Given the description of an element on the screen output the (x, y) to click on. 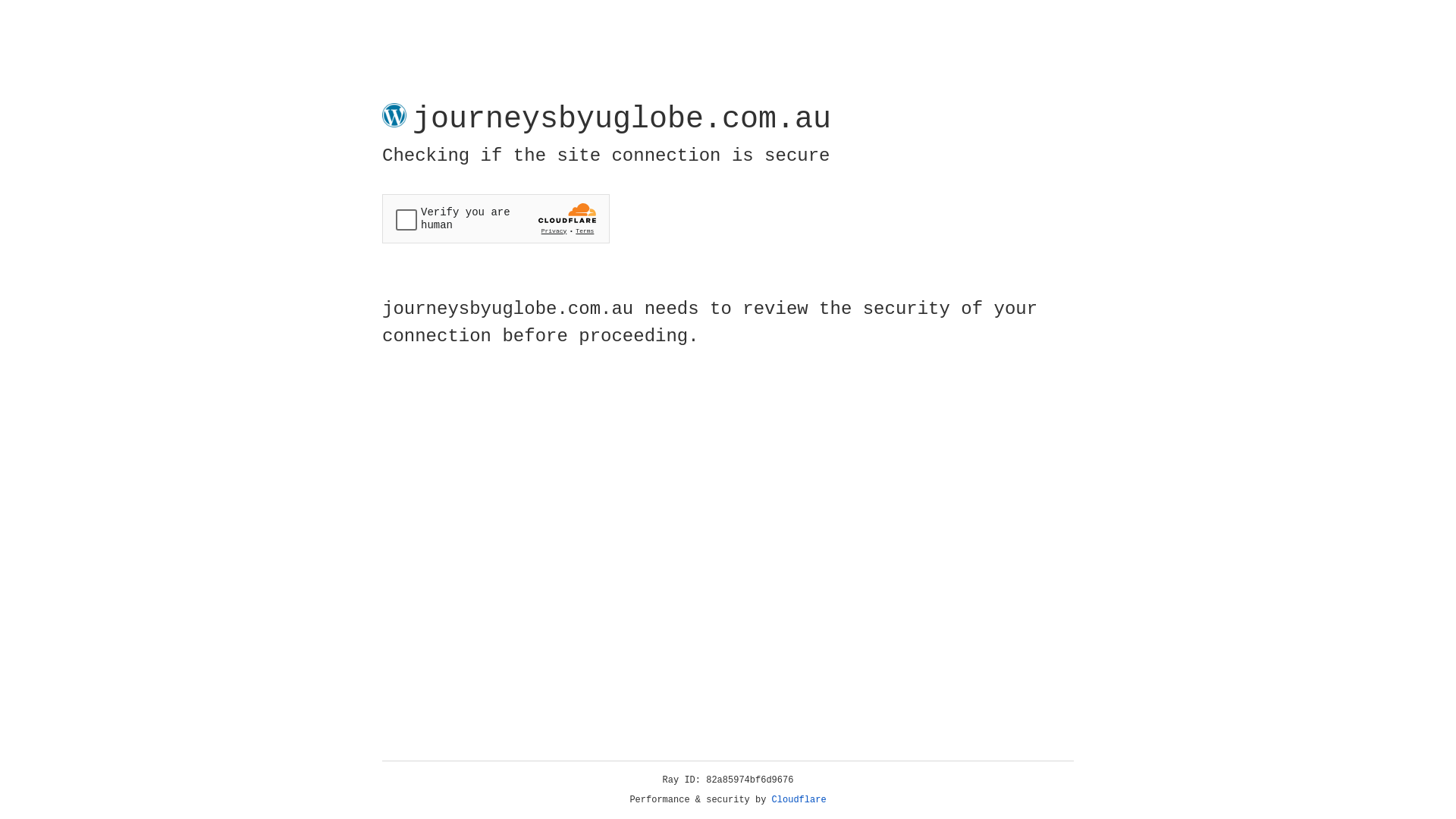
Widget containing a Cloudflare security challenge Element type: hover (495, 218)
Cloudflare Element type: text (798, 799)
